Given the description of an element on the screen output the (x, y) to click on. 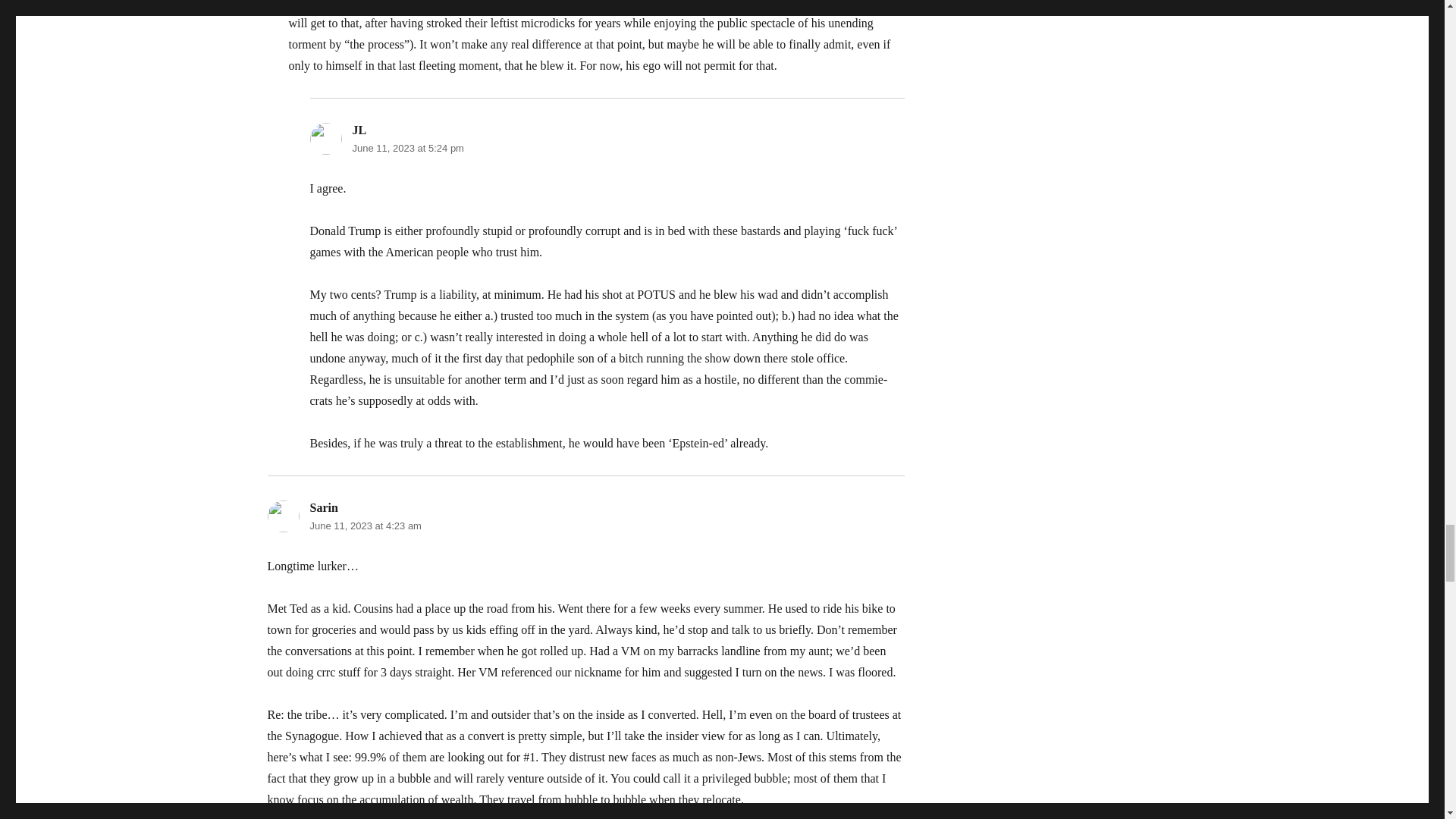
June 11, 2023 at 5:24 pm (407, 147)
June 11, 2023 at 4:23 am (364, 525)
